Given the description of an element on the screen output the (x, y) to click on. 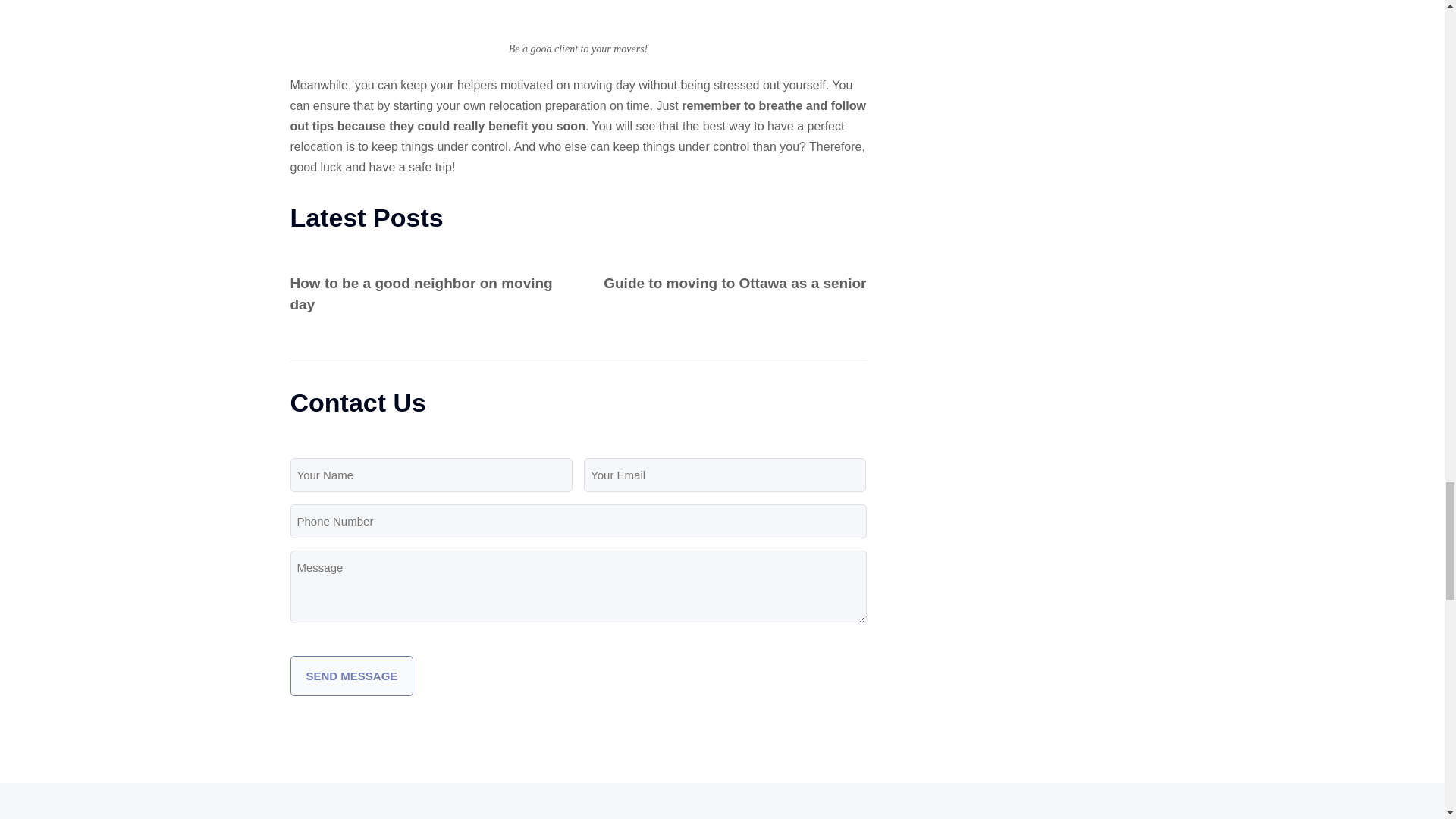
SEND MESSAGE (351, 676)
